Given the description of an element on the screen output the (x, y) to click on. 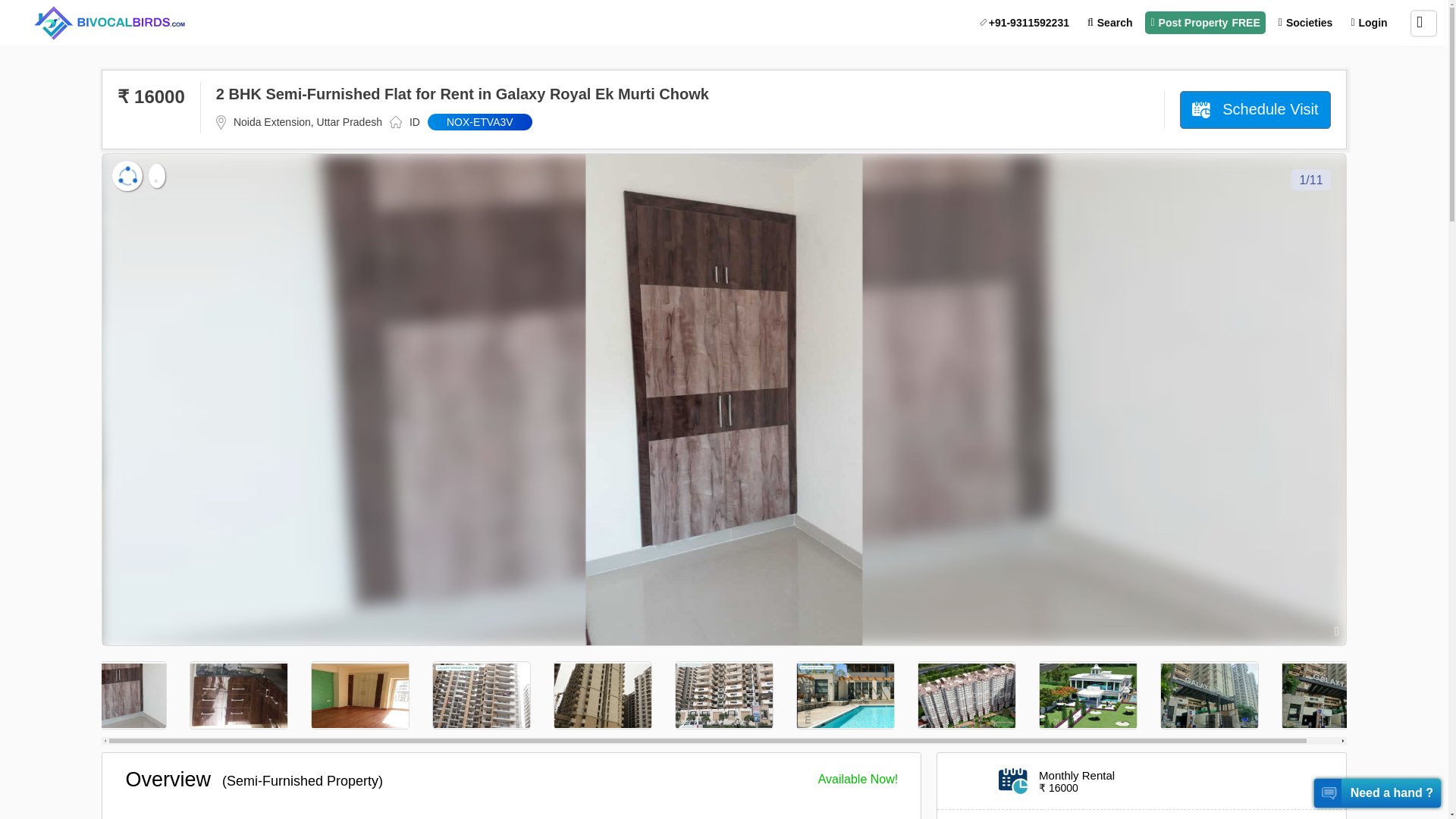
Schedule Visit (1254, 109)
Contact (1024, 22)
Search (1109, 22)
Post Property (1204, 22)
Login (1368, 22)
Search (1109, 22)
Societies (1305, 22)
Login (1368, 22)
Societies (1305, 22)
